Given the description of an element on the screen output the (x, y) to click on. 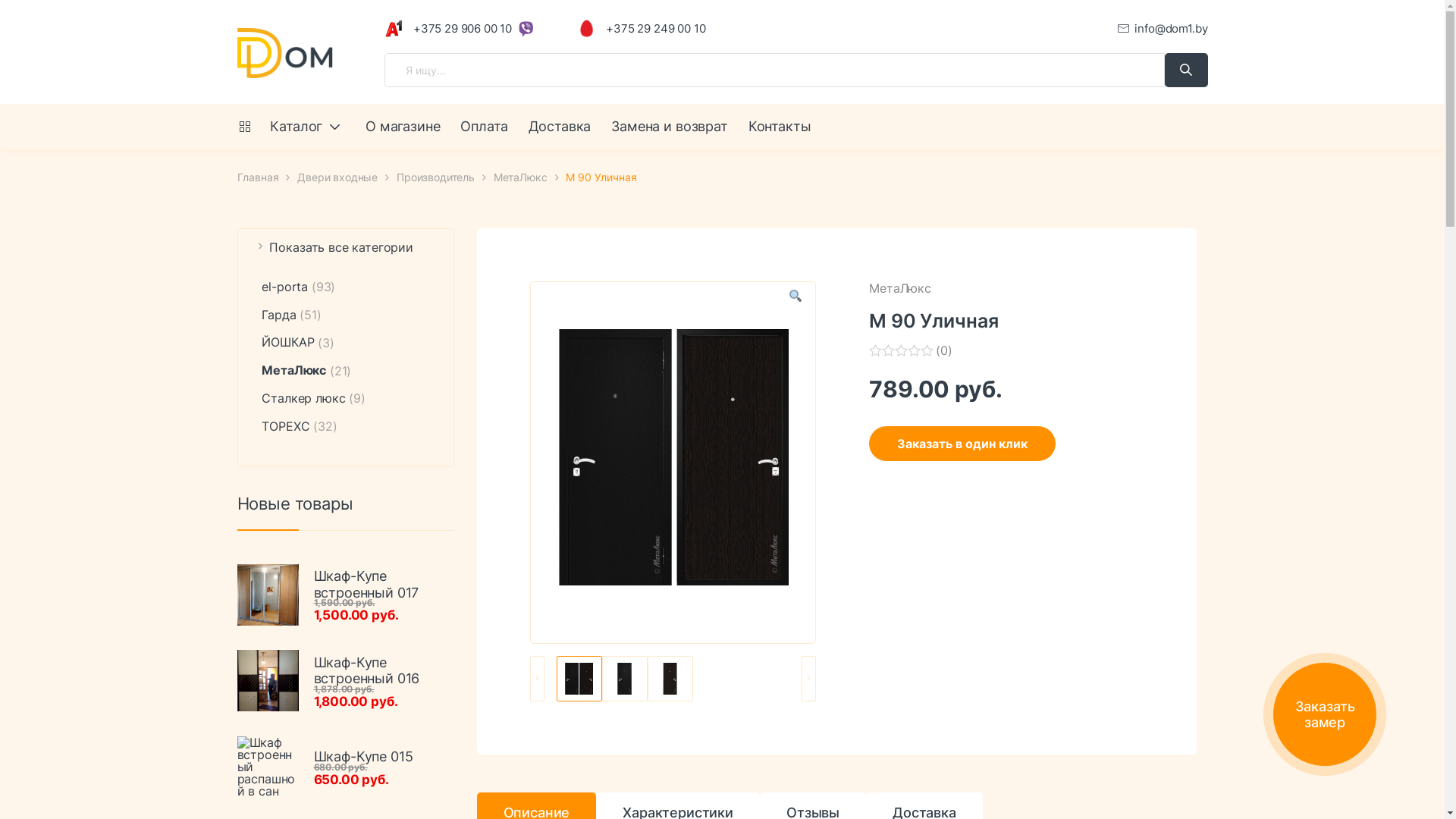
+375 29 249 00 10 Element type: text (641, 27)
Rated 0 out of 5 Element type: hover (902, 350)
info@dom1.by Element type: text (1162, 28)
+375 29 906 00 10 Element type: text (447, 27)
